Given the description of an element on the screen output the (x, y) to click on. 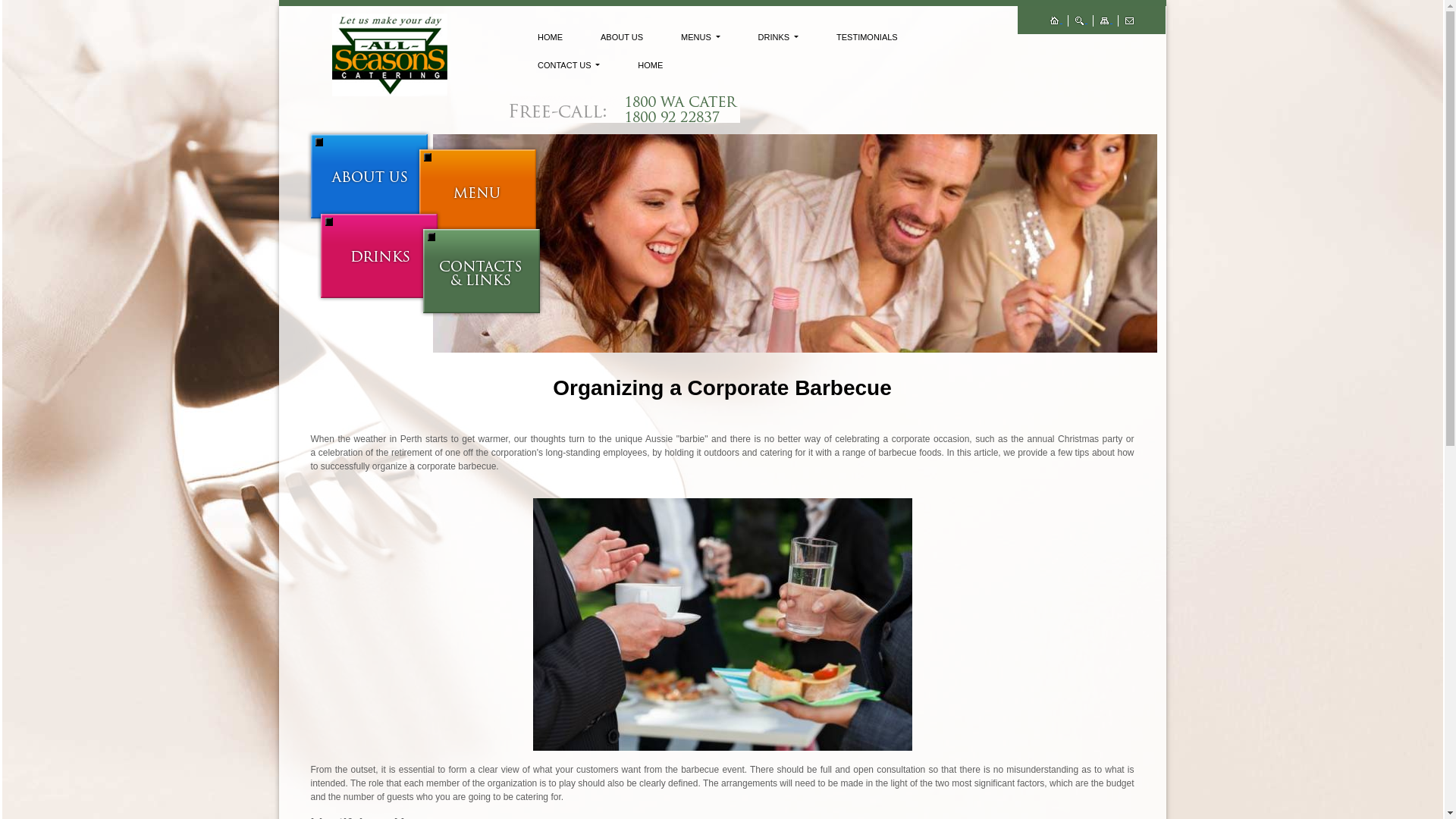
ABOUT US (621, 37)
CONTACT US (568, 65)
DRINKS (777, 37)
HOME (549, 37)
MENUS (700, 37)
TESTIMONIALS (866, 37)
HOME (649, 65)
